Given the description of an element on the screen output the (x, y) to click on. 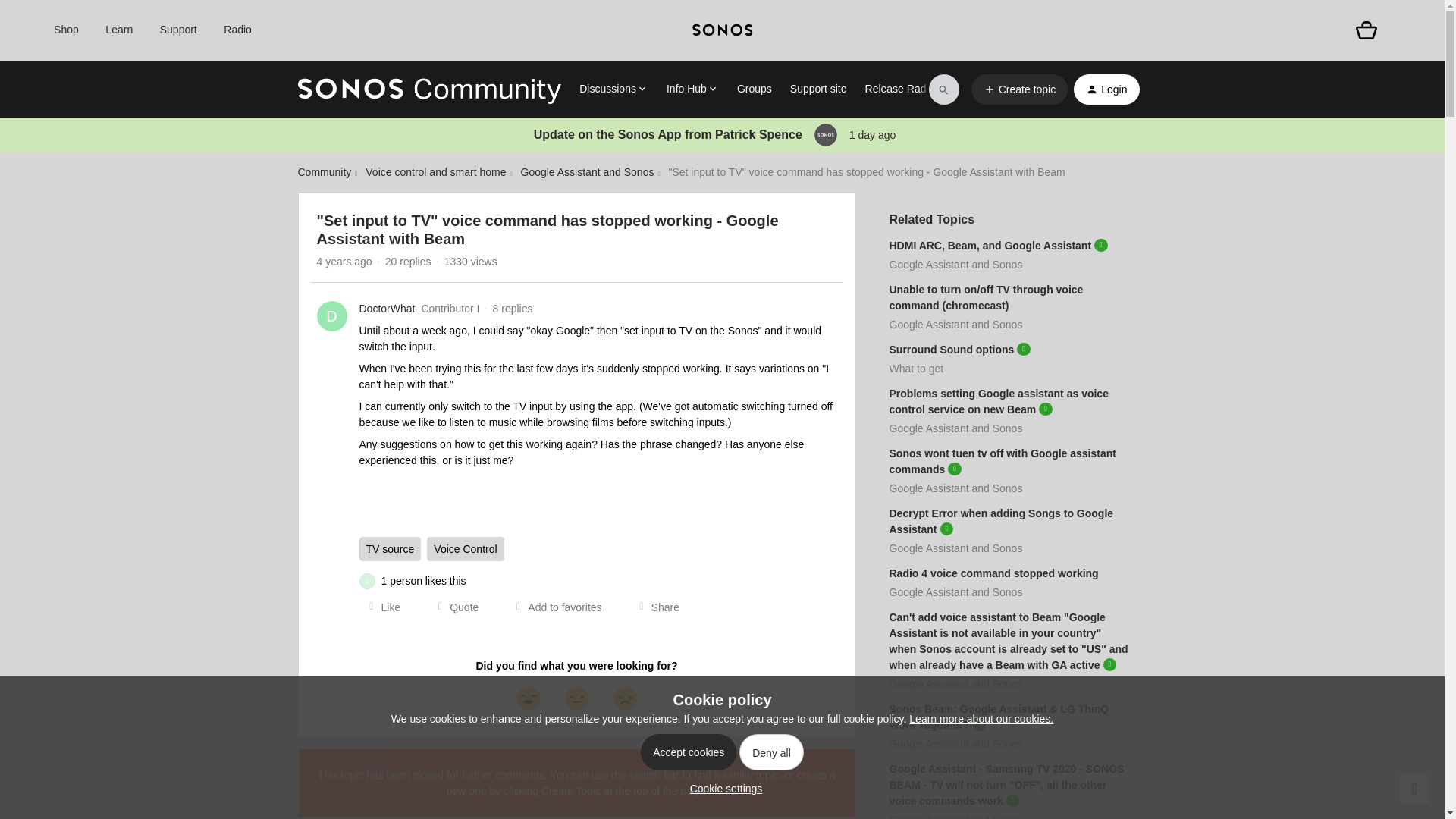
Learn (118, 30)
Discussions (613, 88)
Shop (65, 30)
Radio (237, 30)
Support (178, 30)
